Given the description of an element on the screen output the (x, y) to click on. 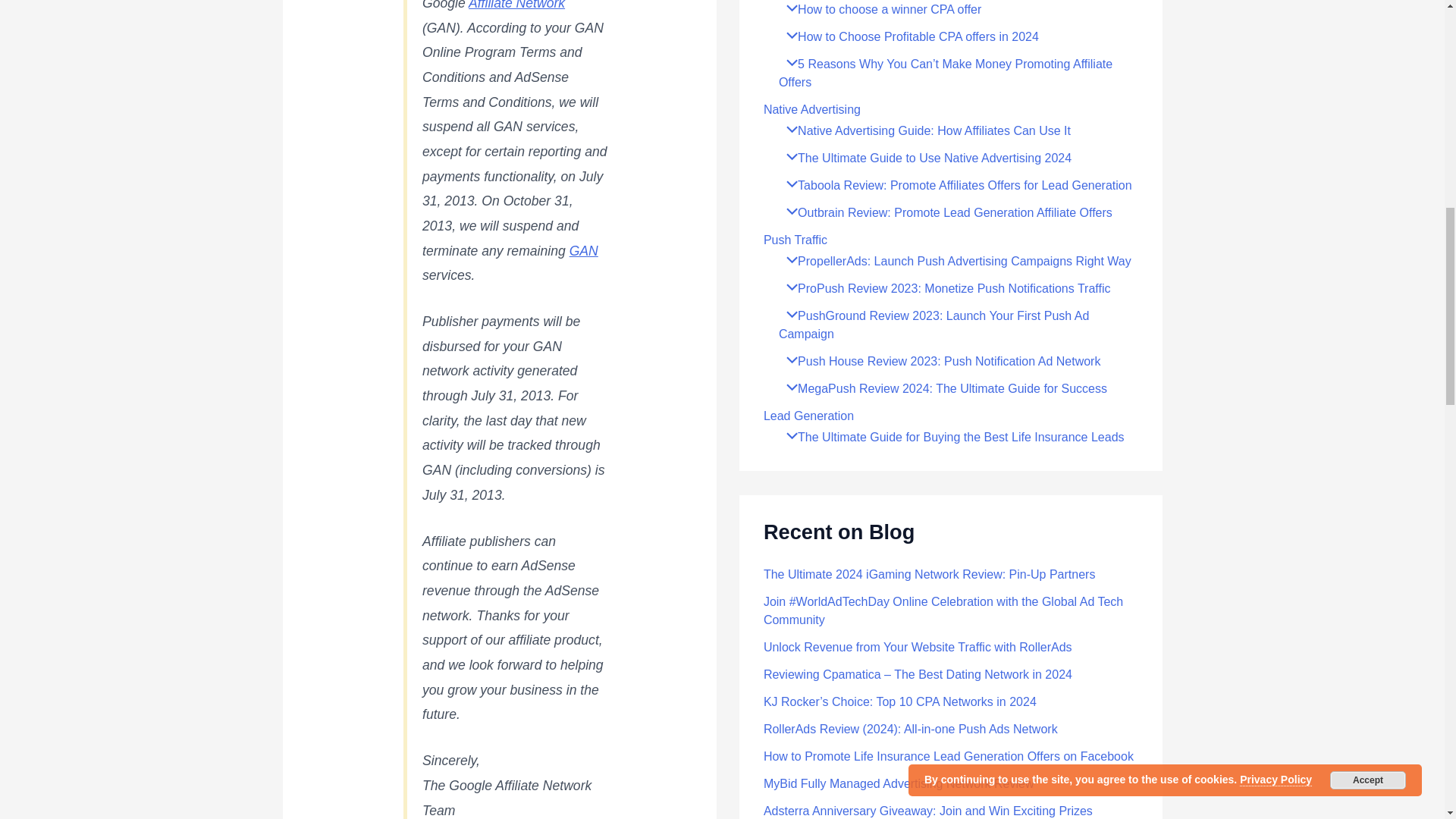
GAN (583, 250)
Affiliate Network (516, 5)
